Given the description of an element on the screen output the (x, y) to click on. 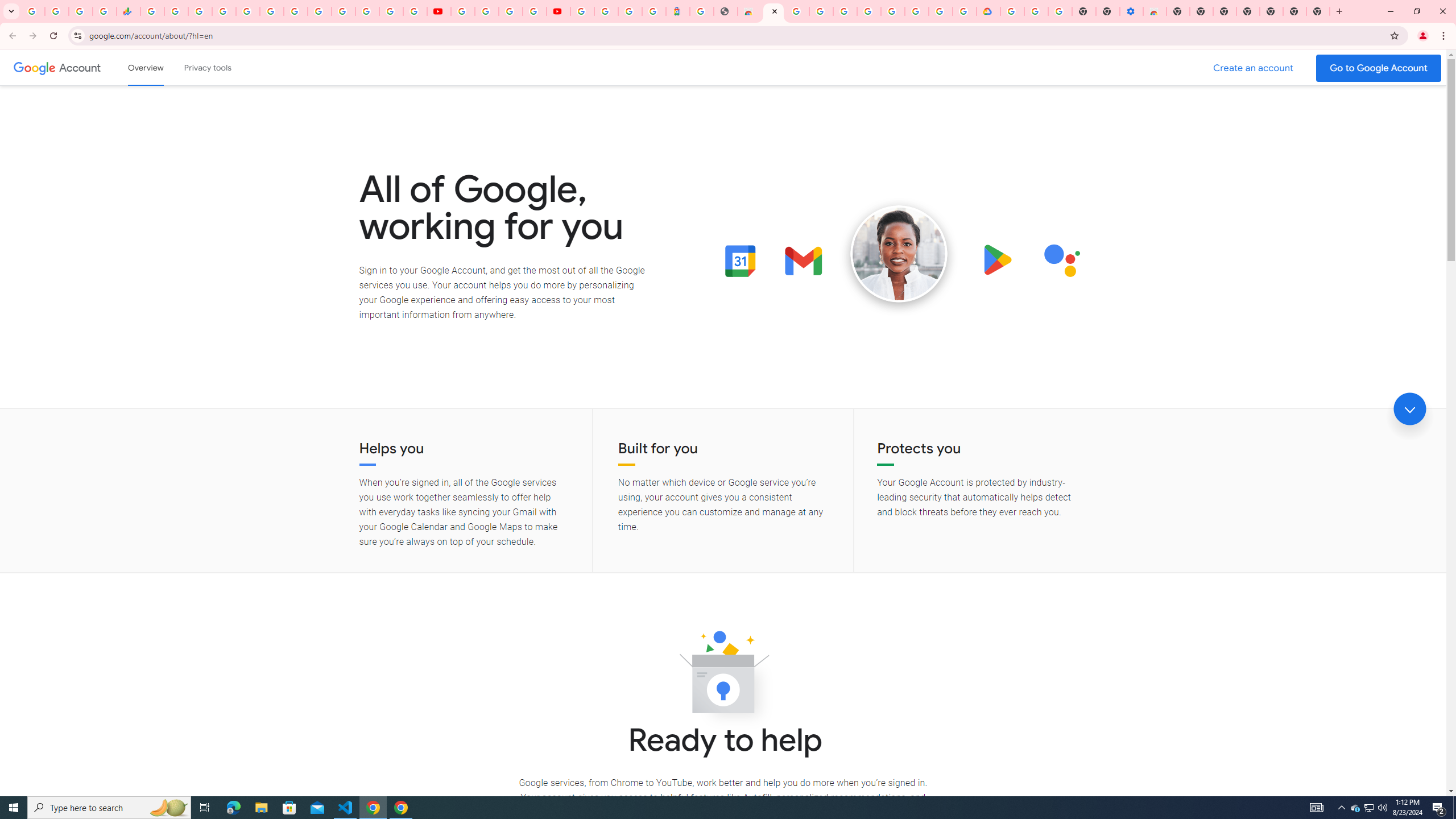
New Tab (1318, 11)
Settings - Accessibility (1131, 11)
Content Creator Programs & Opportunities - YouTube Creators (558, 11)
Create your Google Account (510, 11)
Jump link (1409, 408)
Sign in - Google Accounts (606, 11)
